Given the description of an element on the screen output the (x, y) to click on. 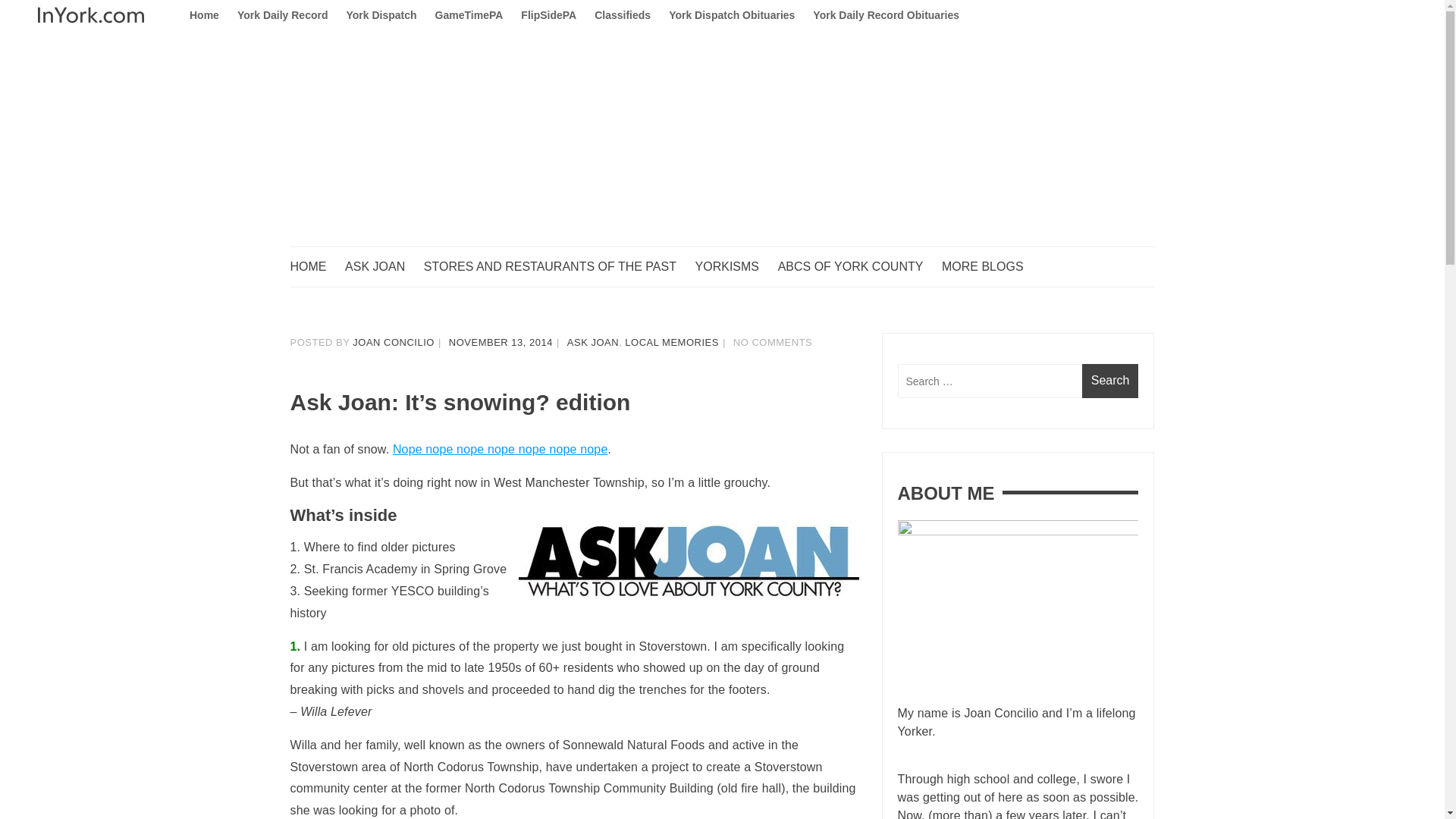
YORKISMS (734, 266)
MORE BLOGS (990, 266)
Nope nope nope nope nope nope nope (500, 449)
Search (1109, 380)
NOVEMBER 13, 2014 (500, 342)
Search (1109, 380)
ASK JOAN (592, 342)
LOCAL MEMORIES (671, 342)
Search (1109, 380)
HOME (314, 266)
